Given the description of an element on the screen output the (x, y) to click on. 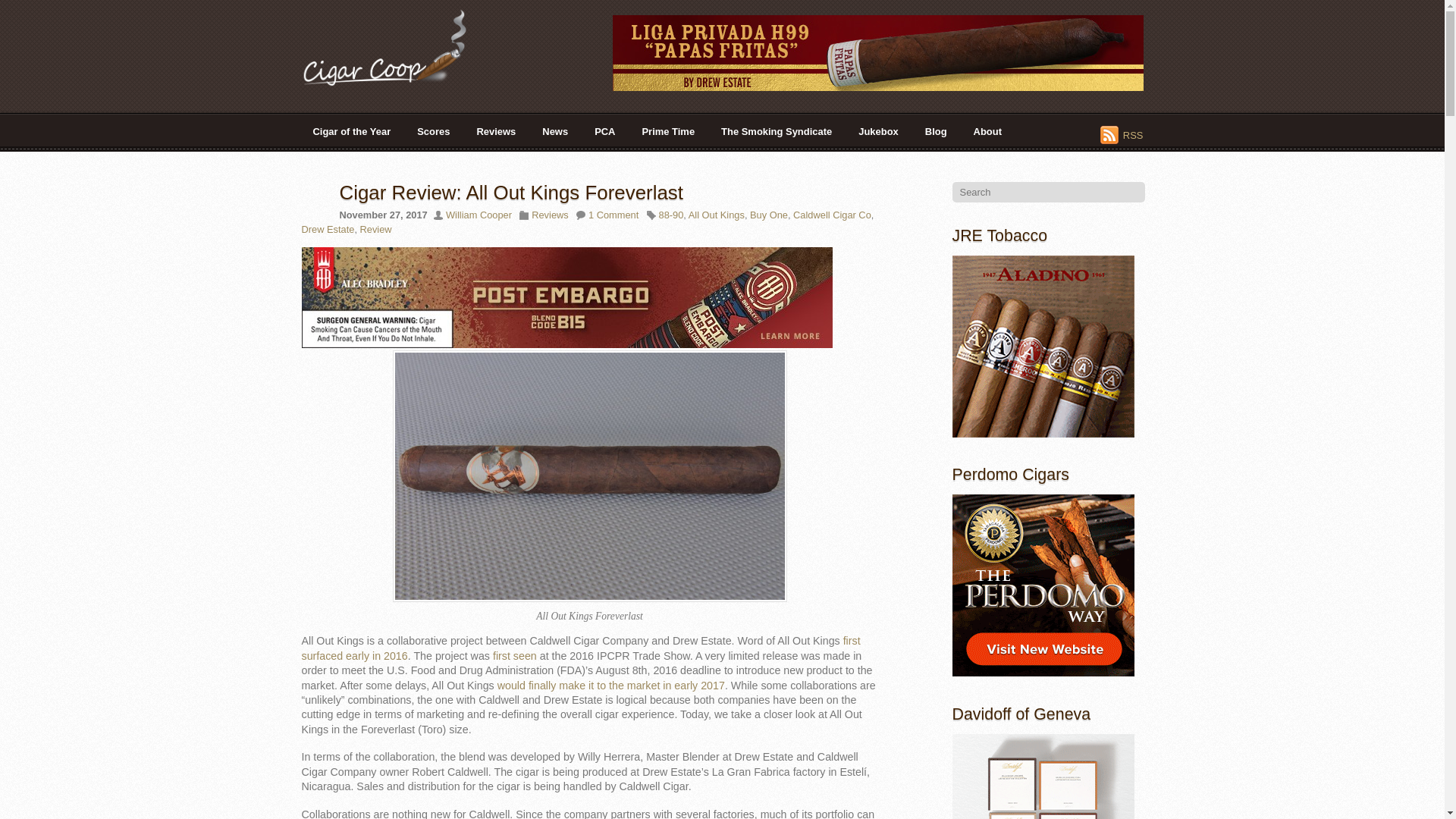
Cigar Coop (396, 46)
Cigar of the Year (352, 131)
Cigar Coop (396, 79)
Scores (433, 131)
News (555, 131)
Reviews (495, 131)
Cigar Review: All Out Kings Foreverlast (511, 192)
